Given the description of an element on the screen output the (x, y) to click on. 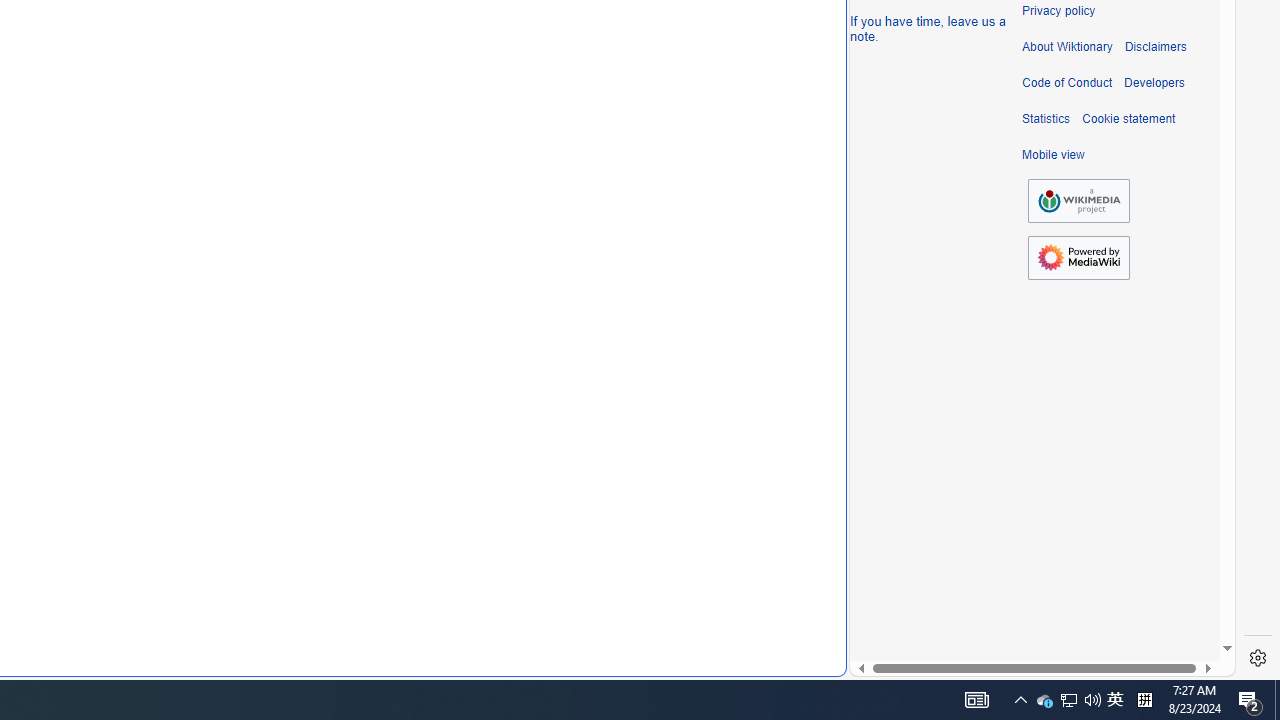
AutomationID: footer-poweredbyico (1078, 257)
Powered by MediaWiki (1078, 257)
Wikimedia Foundation (1078, 200)
